Given the description of an element on the screen output the (x, y) to click on. 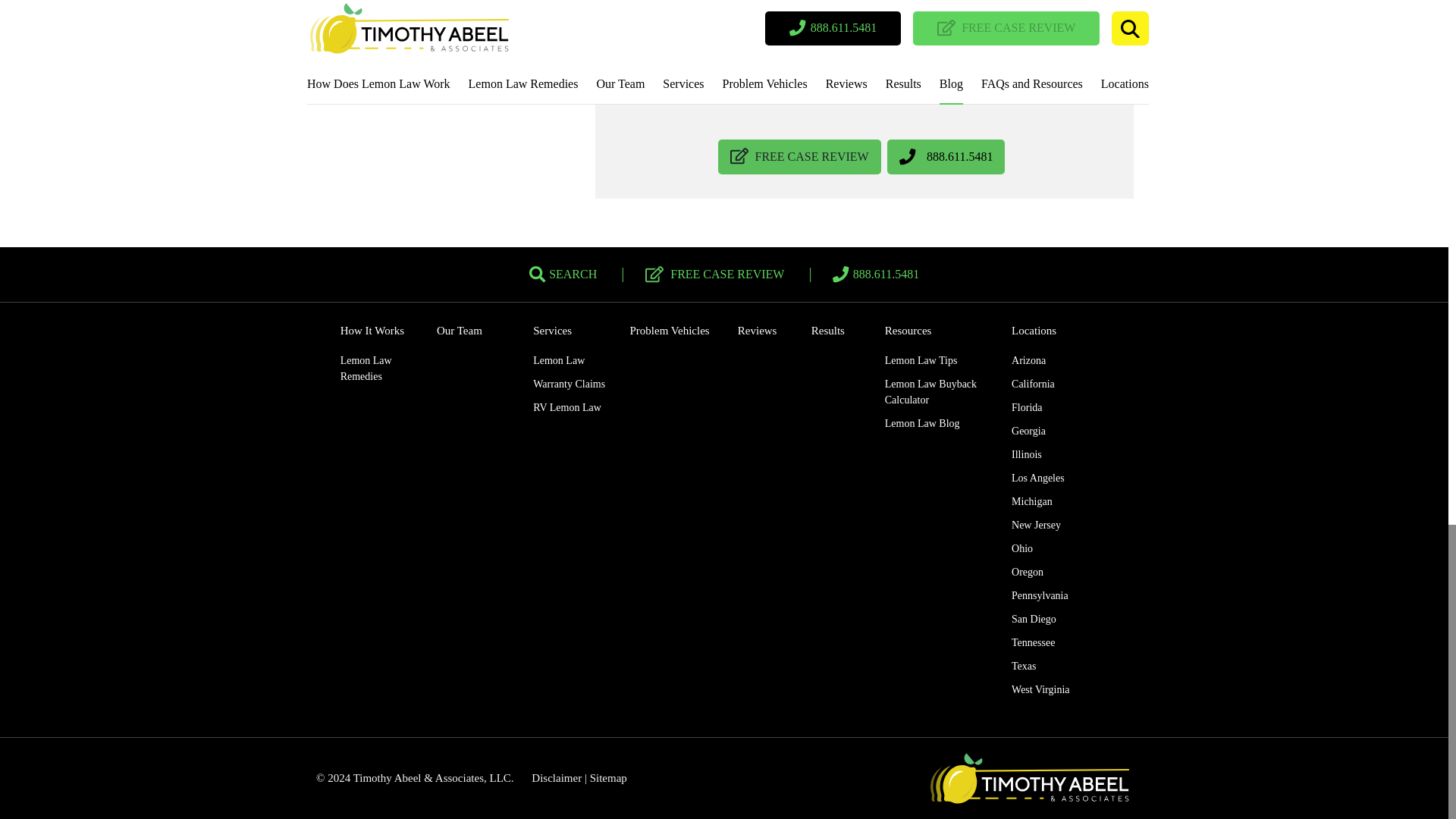
Search (562, 273)
